Given the description of an element on the screen output the (x, y) to click on. 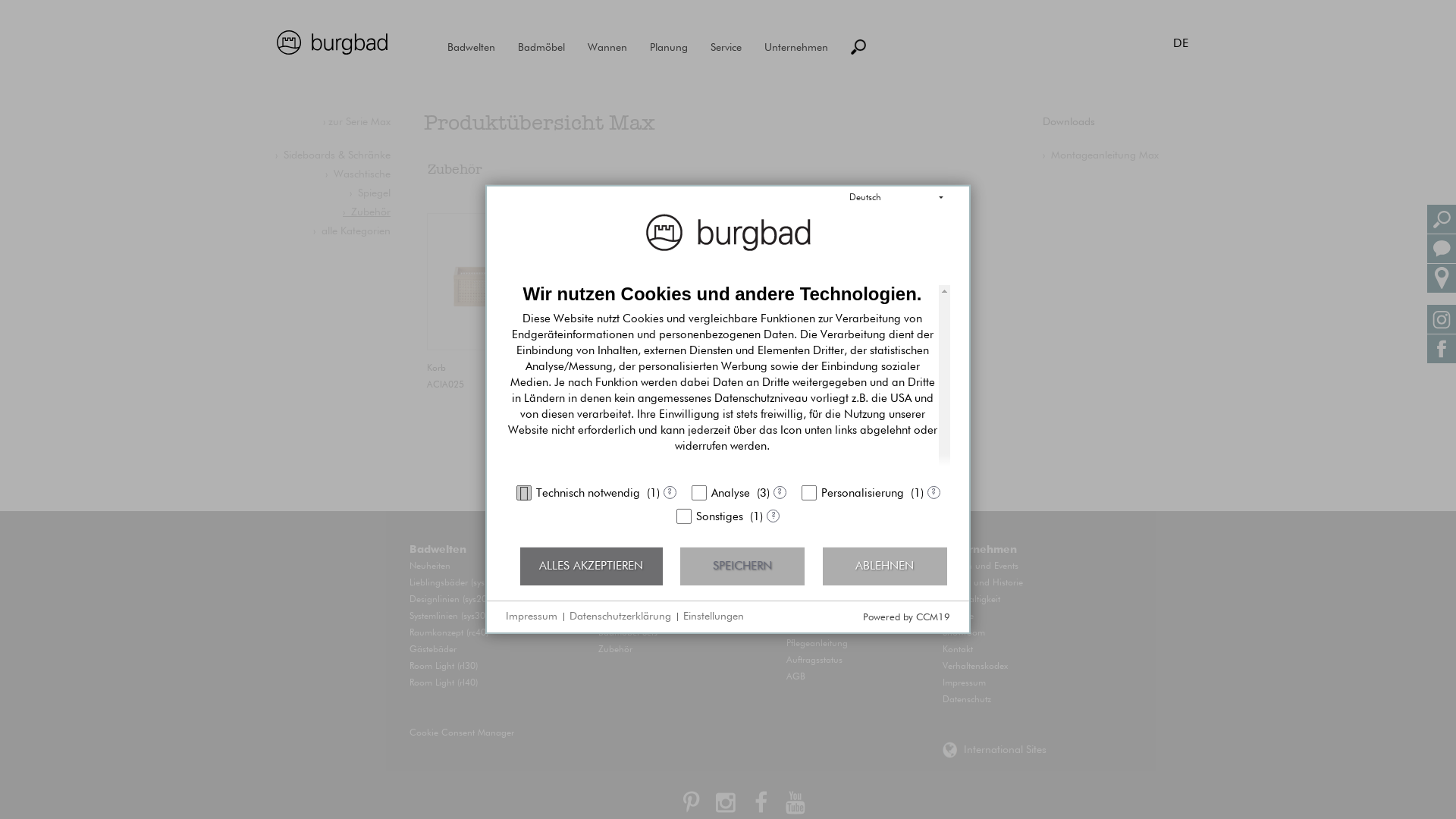
? Element type: text (668, 492)
Portrait und Historie Element type: text (982, 582)
Wannen Element type: text (607, 47)
Auftragsstatus Element type: text (814, 660)
instagram Element type: hover (725, 804)
DE Element type: text (1180, 42)
Designlinien (sys20) Element type: text (449, 599)
AGB Element type: text (795, 676)
Impressum Element type: text (963, 682)
Neuheiten Element type: text (429, 566)
Nachhaltigkeit Element type: text (971, 599)
Facebook Element type: hover (760, 804)
ALLES AKZEPTIEREN Element type: text (591, 566)
Karriere Element type: text (957, 616)
Room Light (rl30) Element type: text (443, 666)
Korb
ACIA025 Element type: text (495, 312)
Pflegeanleitung Element type: text (816, 643)
Powered by CCM19 Element type: text (906, 617)
International Sites Element type: text (1004, 749)
Systemlinien (sys30) Element type: text (448, 616)
? Element type: text (779, 492)
Verhaltenskodex Element type: text (974, 666)
Datenschutz Element type: text (966, 699)
Korb ACIA025 Element type: hover (495, 281)
ABLEHNEN Element type: text (884, 566)
youtube Element type: hover (795, 804)
Showroom Element type: text (963, 632)
Messen und Events Element type: text (980, 566)
Room Light (rl40) Element type: text (443, 682)
SPEICHERN Element type: text (742, 566)
Einstellungen Element type: text (713, 616)
Cookie Consent Manager Element type: text (461, 732)
? Element type: text (932, 492)
Online Badplaner Element type: text (822, 566)
Raumkonzept (rc40) Element type: text (448, 632)
Impressum Element type: text (531, 616)
Spiegel Element type: text (612, 616)
pinterest Element type: hover (690, 804)
Kontakt Element type: text (957, 649)
Waschtische Element type: text (622, 566)
? Element type: text (772, 515)
